Given the description of an element on the screen output the (x, y) to click on. 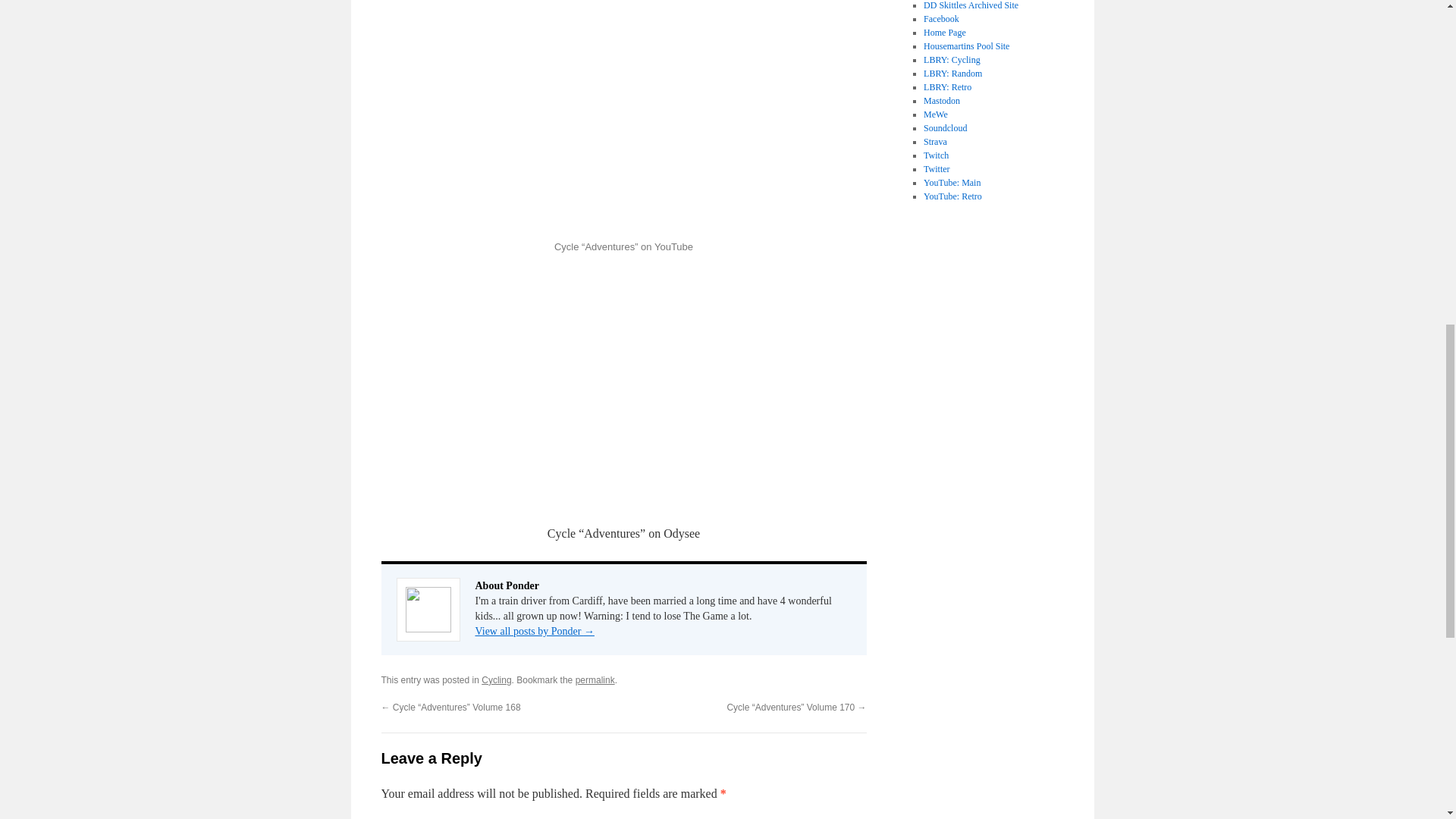
MeWe (935, 113)
Home Page (944, 32)
Uncategorised videos on LBRY (952, 72)
Mastodon (941, 100)
Cycling With Ponder on LBRY (951, 59)
permalink (594, 679)
DD Skittles Archived Site (970, 5)
The pool team I play for. (966, 45)
My least favourite but sadly most active social media site. (941, 18)
LBRY: Cycling (951, 59)
Soundcloud (944, 127)
Facebook (941, 18)
About me and my interests. (944, 32)
Strava (935, 141)
